Given the description of an element on the screen output the (x, y) to click on. 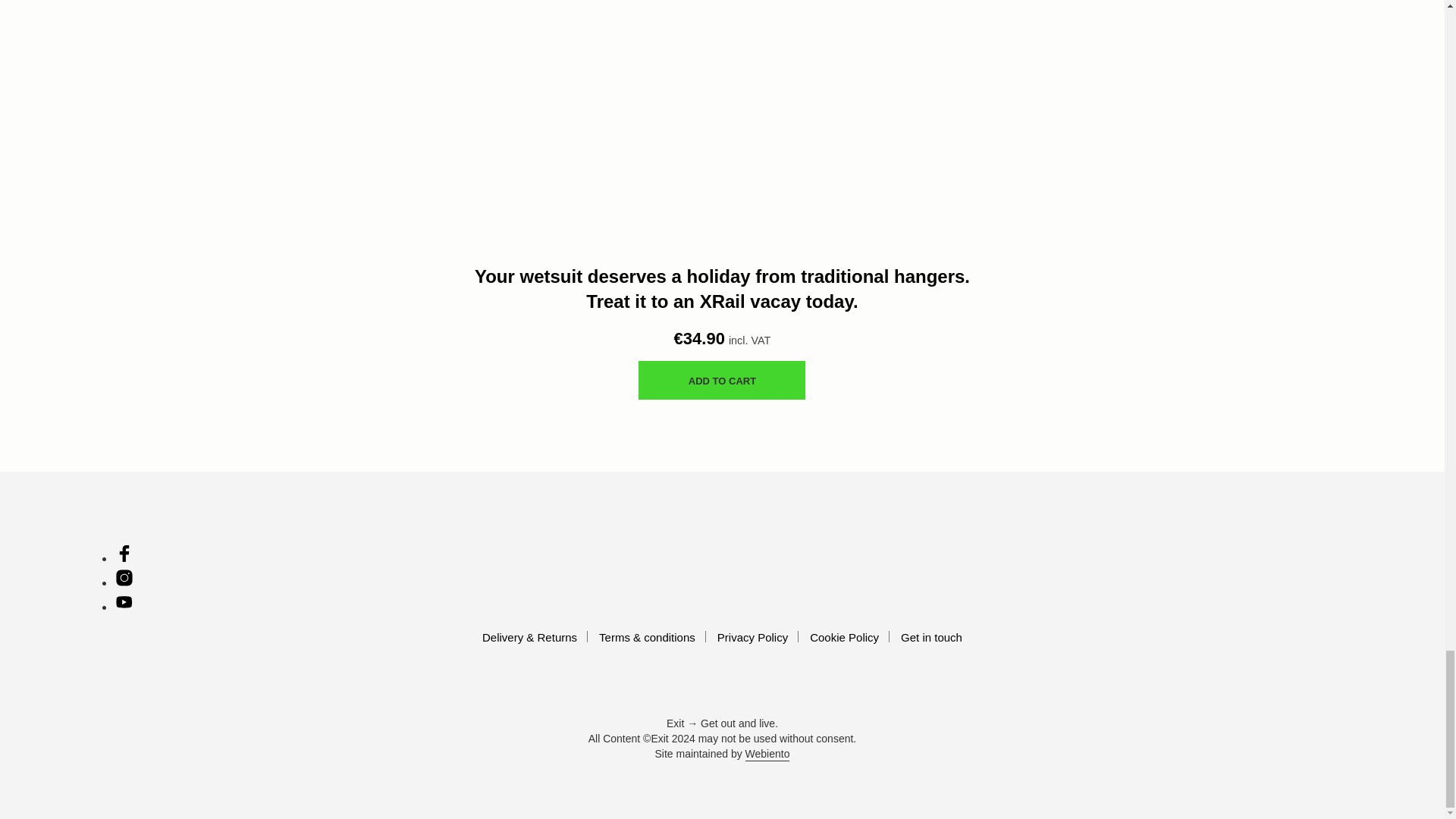
Cookie Policy (844, 636)
ADD TO CART (722, 380)
Get in touch (931, 636)
Webiento (767, 754)
Privacy Policy (752, 636)
